Given the description of an element on the screen output the (x, y) to click on. 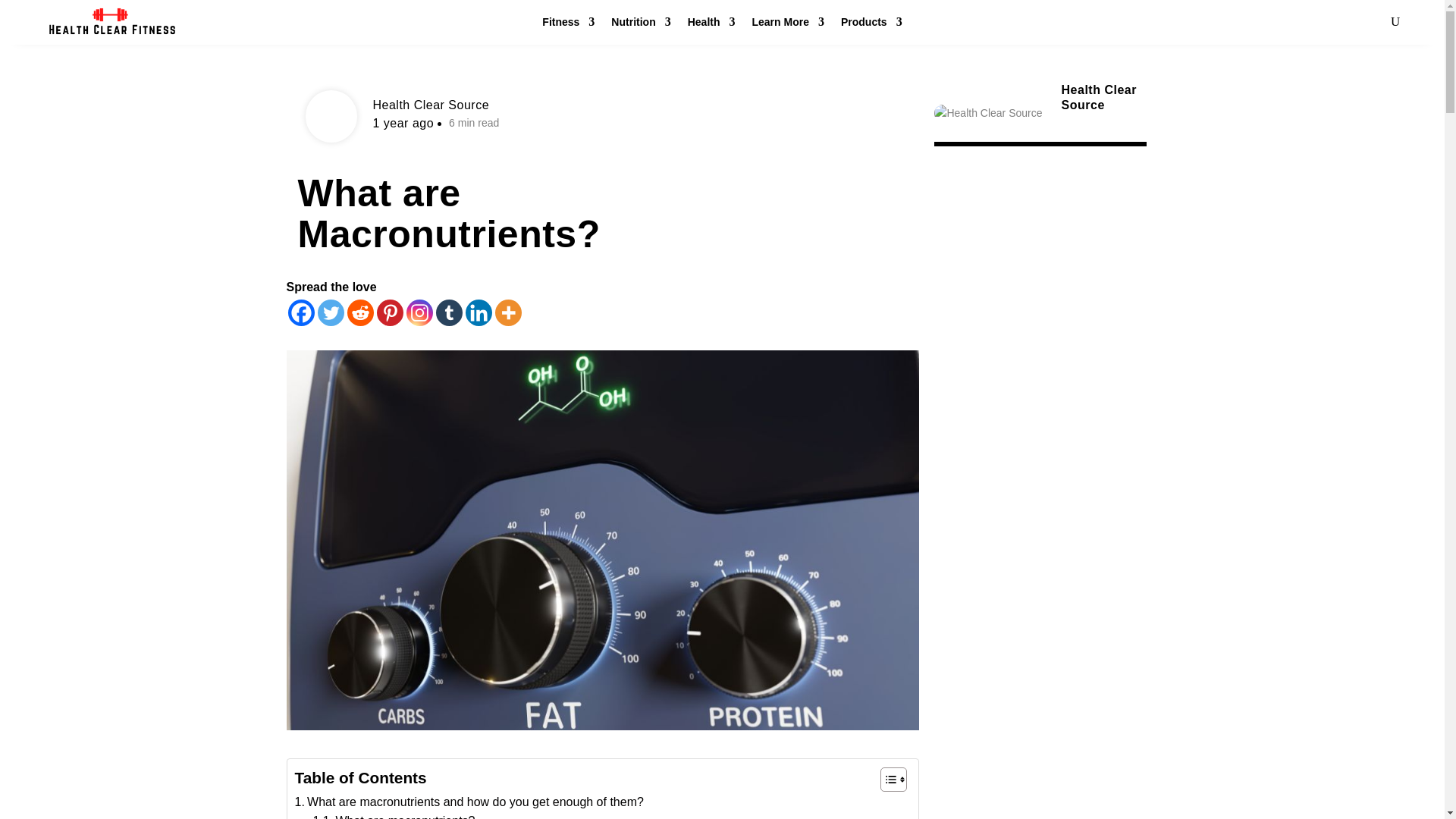
Health (711, 25)
Tumblr (448, 312)
Linkedin (478, 312)
Pinterest (389, 312)
Fitness (567, 25)
Twitter (330, 312)
More (508, 312)
Instagram (419, 312)
Facebook (301, 312)
Nutrition (640, 25)
Reddit (360, 312)
